Given the description of an element on the screen output the (x, y) to click on. 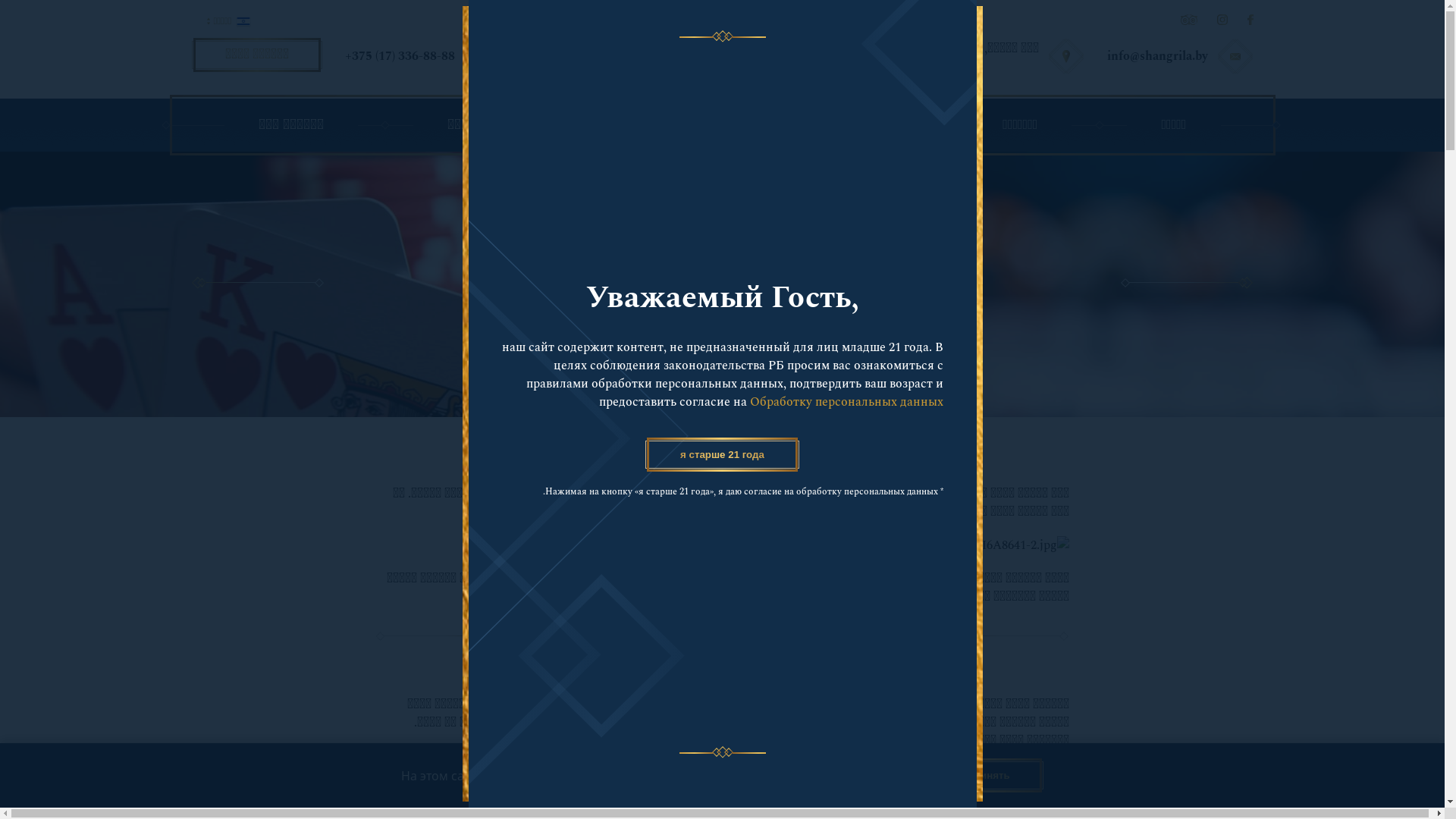
+375 (17) 336-88-88 Element type: text (399, 56)
info@shangrila.by Element type: text (1157, 56)
5I6A8641-2.jpg Element type: hover (1022, 545)
